Given the description of an element on the screen output the (x, y) to click on. 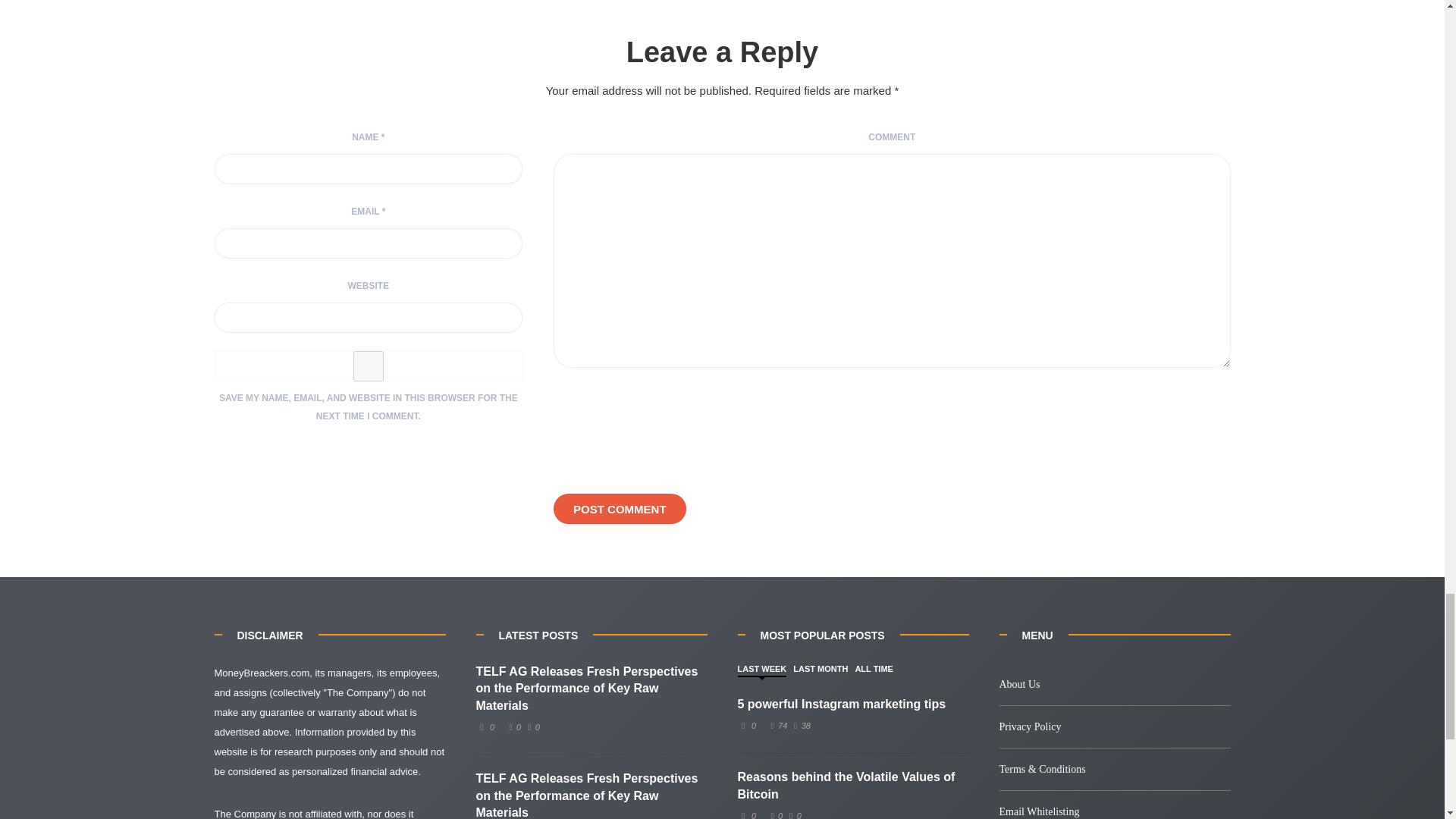
I like this (513, 727)
I like this (777, 725)
yes (368, 366)
I dislike this (799, 725)
Post Comment (619, 508)
I dislike this (531, 727)
I like this (775, 815)
I dislike this (793, 815)
